Given the description of an element on the screen output the (x, y) to click on. 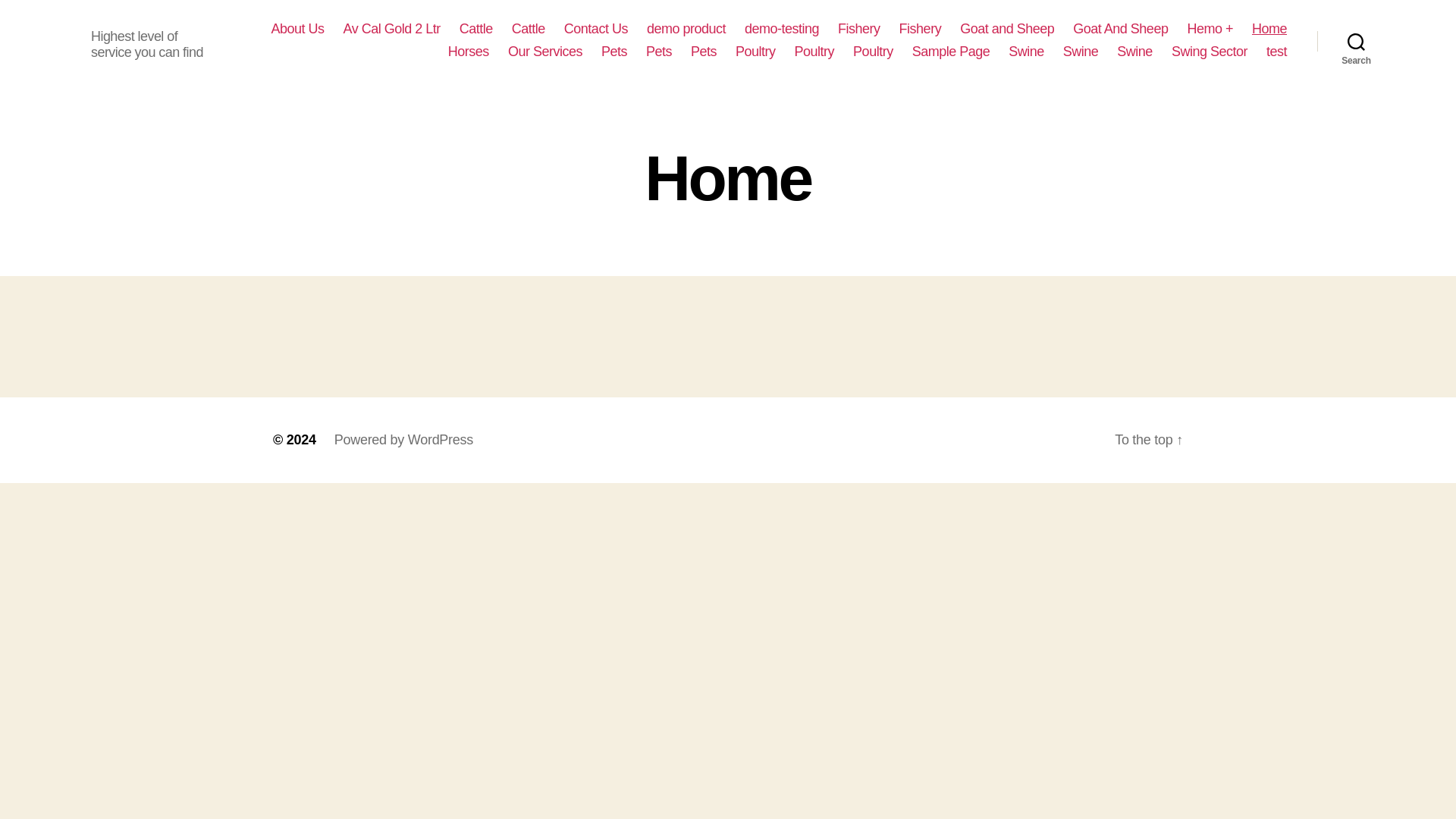
Pets (703, 52)
Swine (1134, 52)
Search (1355, 40)
test (1276, 52)
Swine (1080, 52)
Av Cal Gold 2 Ltr (392, 29)
Swine (1026, 52)
Pets (658, 52)
Sample Page (951, 52)
Poultry (814, 52)
Goat And Sheep (1120, 29)
Cattle (528, 29)
Our Services (545, 52)
Goat and Sheep (1006, 29)
Cattle (476, 29)
